Given the description of an element on the screen output the (x, y) to click on. 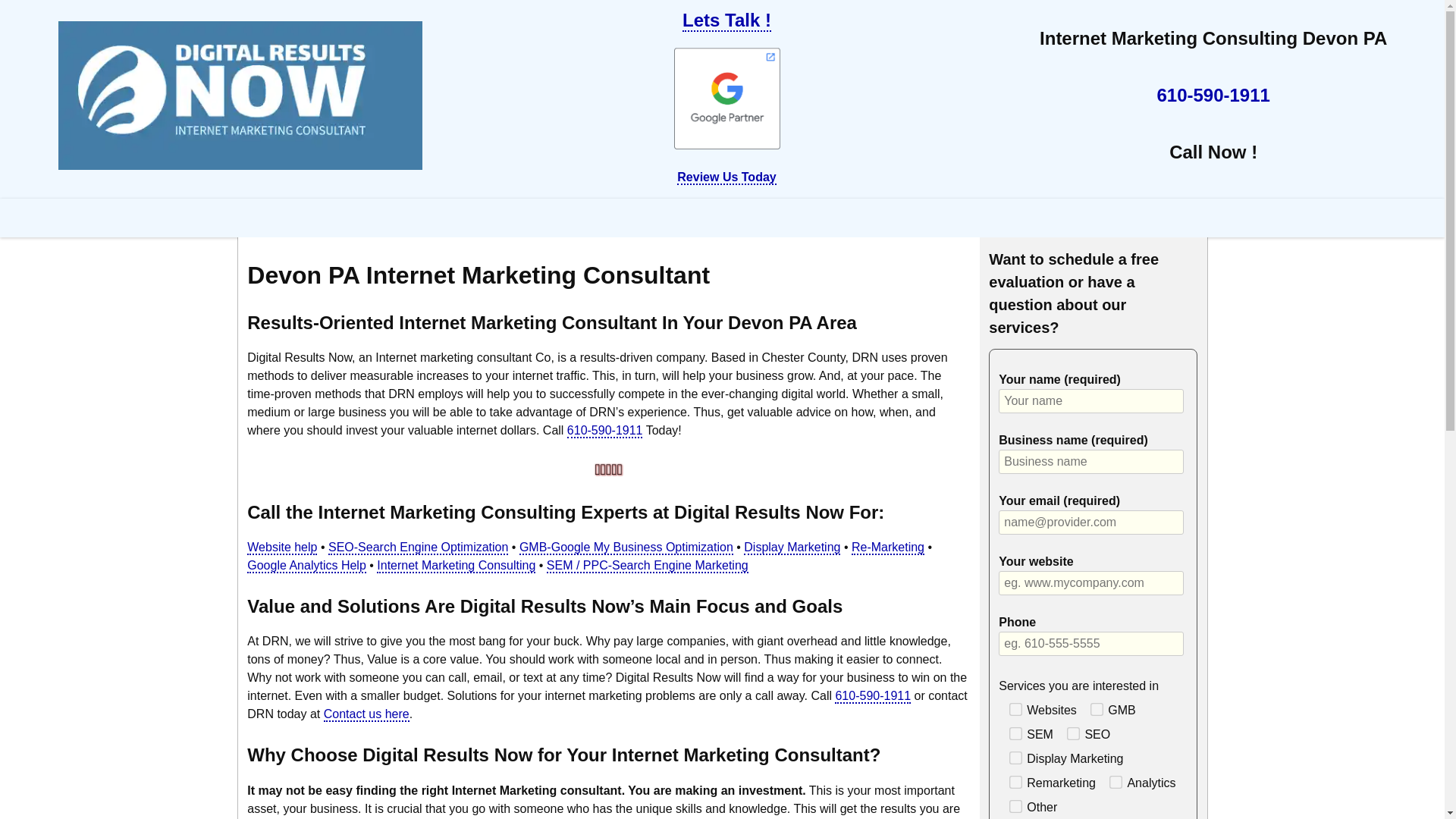
Analytics (1114, 780)
Review Us Today (726, 177)
SEO-Search Engine Optimization (418, 547)
610-590-1911 (872, 696)
SEM (1014, 732)
Google Analytics Help (306, 565)
Internet Marketing Consulting (456, 565)
Website help (282, 547)
610-590-1911 (1212, 95)
610-590-1911 (605, 431)
GMB-Google My Business Optimization (626, 547)
Lets Talk ! (726, 20)
Remarketing (1014, 780)
Re-Marketing (887, 547)
GMB (1095, 707)
